Given the description of an element on the screen output the (x, y) to click on. 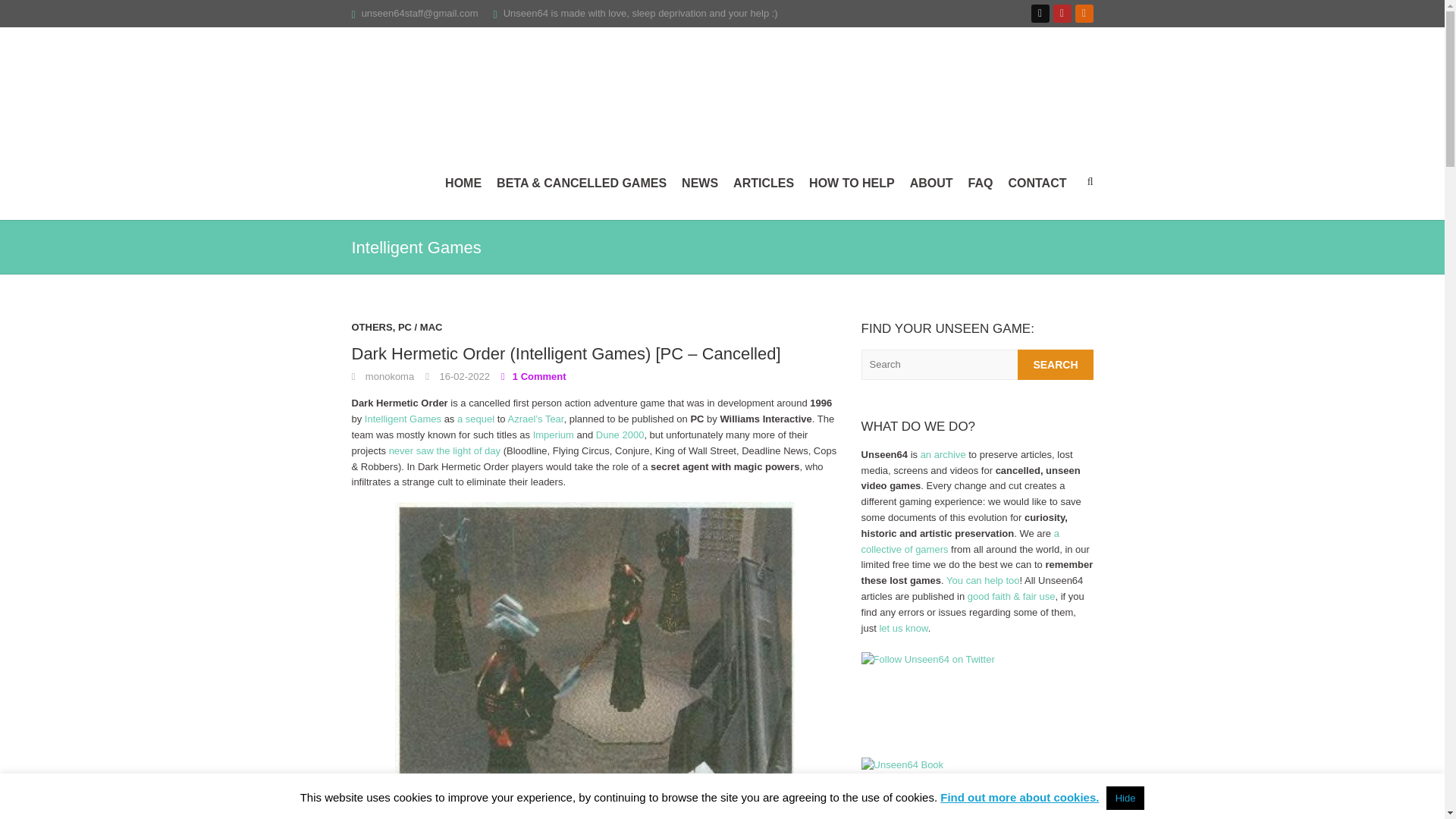
1 Comment (533, 376)
Intelligent Games (403, 419)
Dune 2000 (620, 434)
CONTACT (1036, 183)
01:43 (457, 376)
a sequel (476, 419)
monokoma (383, 376)
 Mail Us  (420, 12)
16-02-2022 (457, 376)
OTHERS (372, 331)
